Given the description of an element on the screen output the (x, y) to click on. 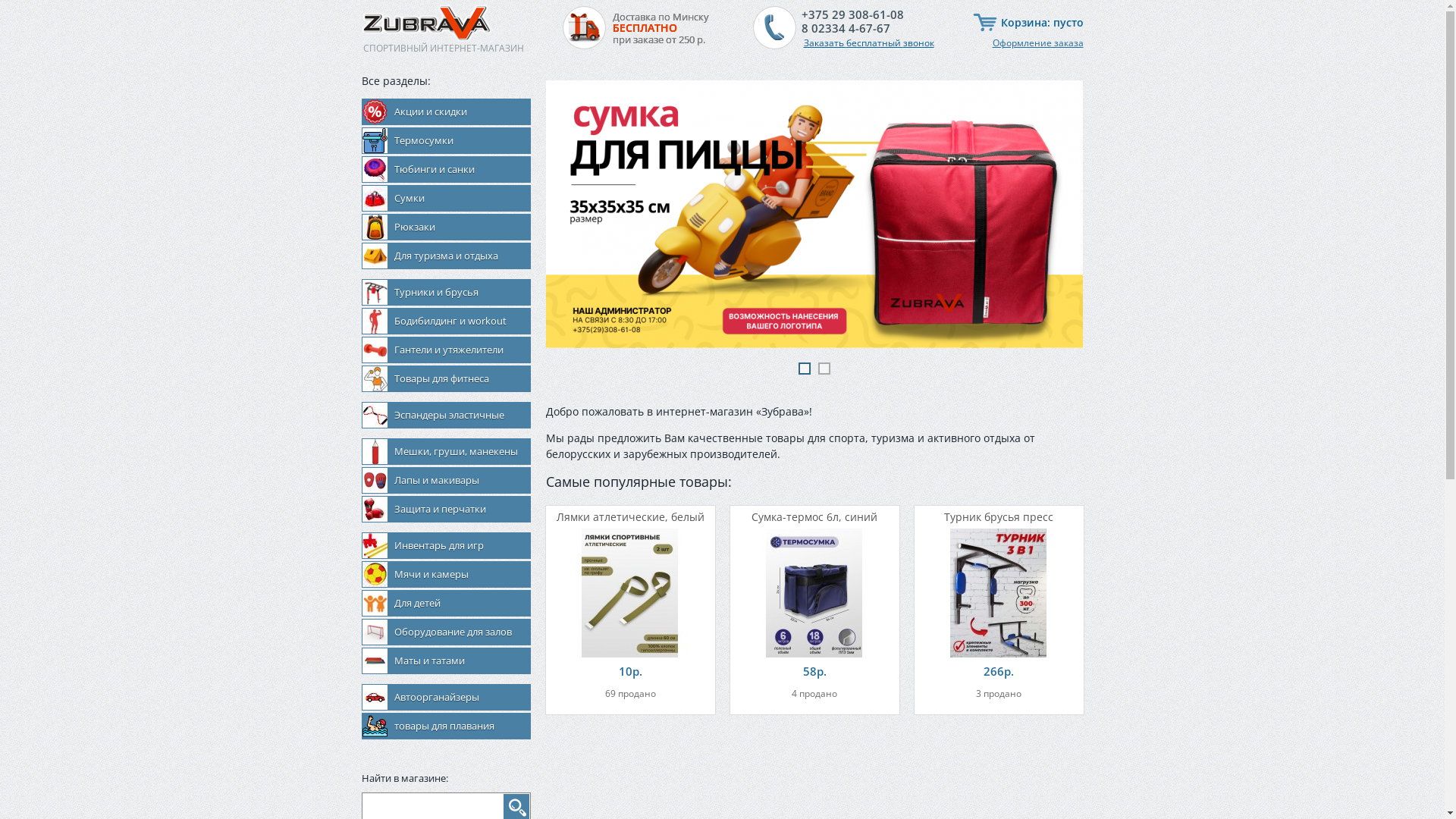
+375 29 308-61-08 Element type: text (851, 14)
8 02334 4-67-67 Element type: text (851, 27)
